Given the description of an element on the screen output the (x, y) to click on. 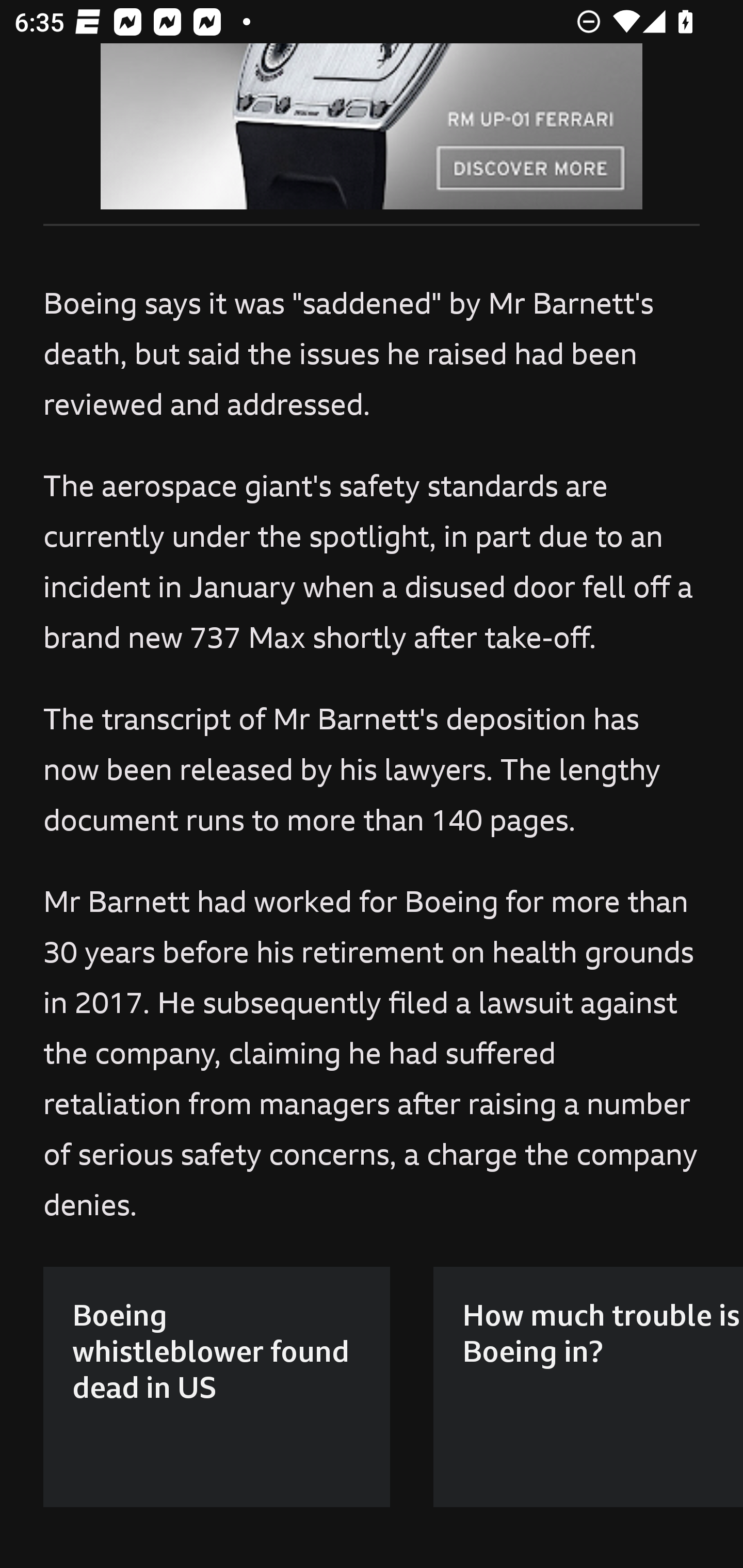
Boeing whistleblower found dead in US (216, 1386)
How much trouble is Boeing in? (588, 1386)
